Given the description of an element on the screen output the (x, y) to click on. 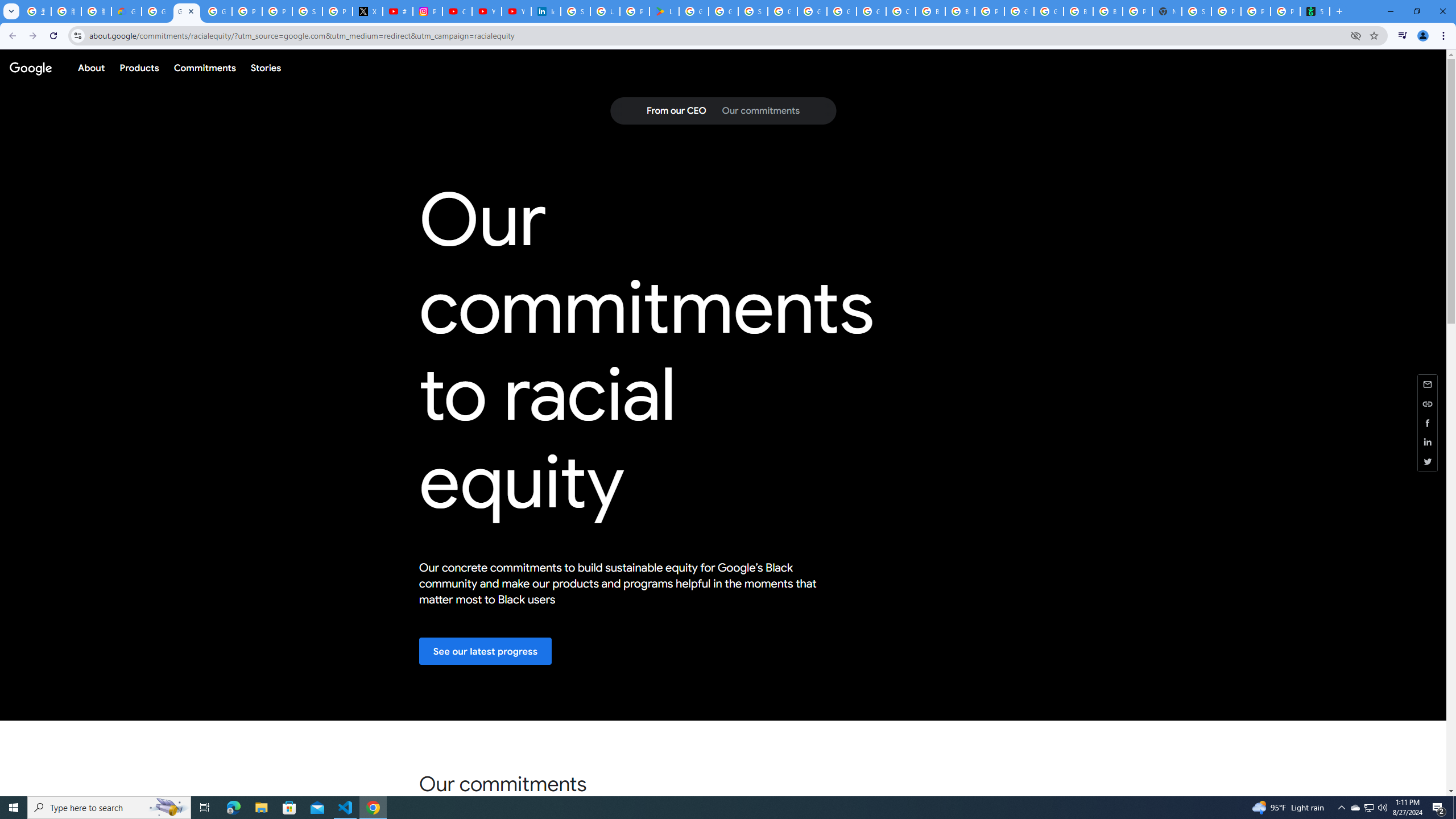
Identity verification via Persona | LinkedIn Help (545, 11)
Commitments (204, 67)
See our latest progress (485, 651)
Share this page (LinkedIn) (1427, 442)
Control your music, videos, and more (1402, 35)
Sign in - Google Accounts (1196, 11)
Browse Chrome as a guest - Computer - Google Chrome Help (930, 11)
YouTube Culture & Trends - YouTube Top 10, 2021 (515, 11)
